Given the description of an element on the screen output the (x, y) to click on. 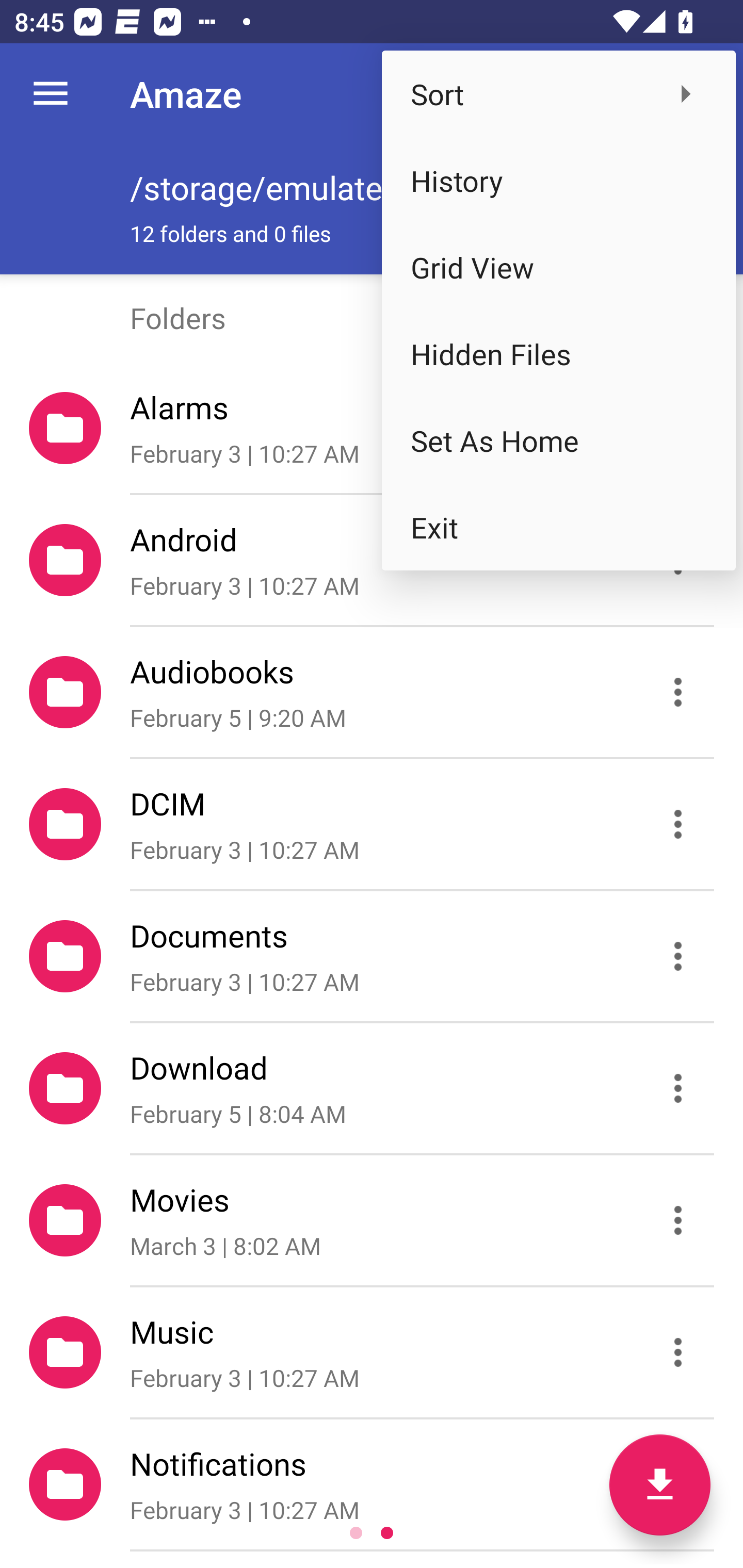
Sort (558, 93)
History (558, 180)
Grid View (558, 267)
Hidden Files (558, 353)
Set As Home (558, 440)
Exit (558, 527)
